Given the description of an element on the screen output the (x, y) to click on. 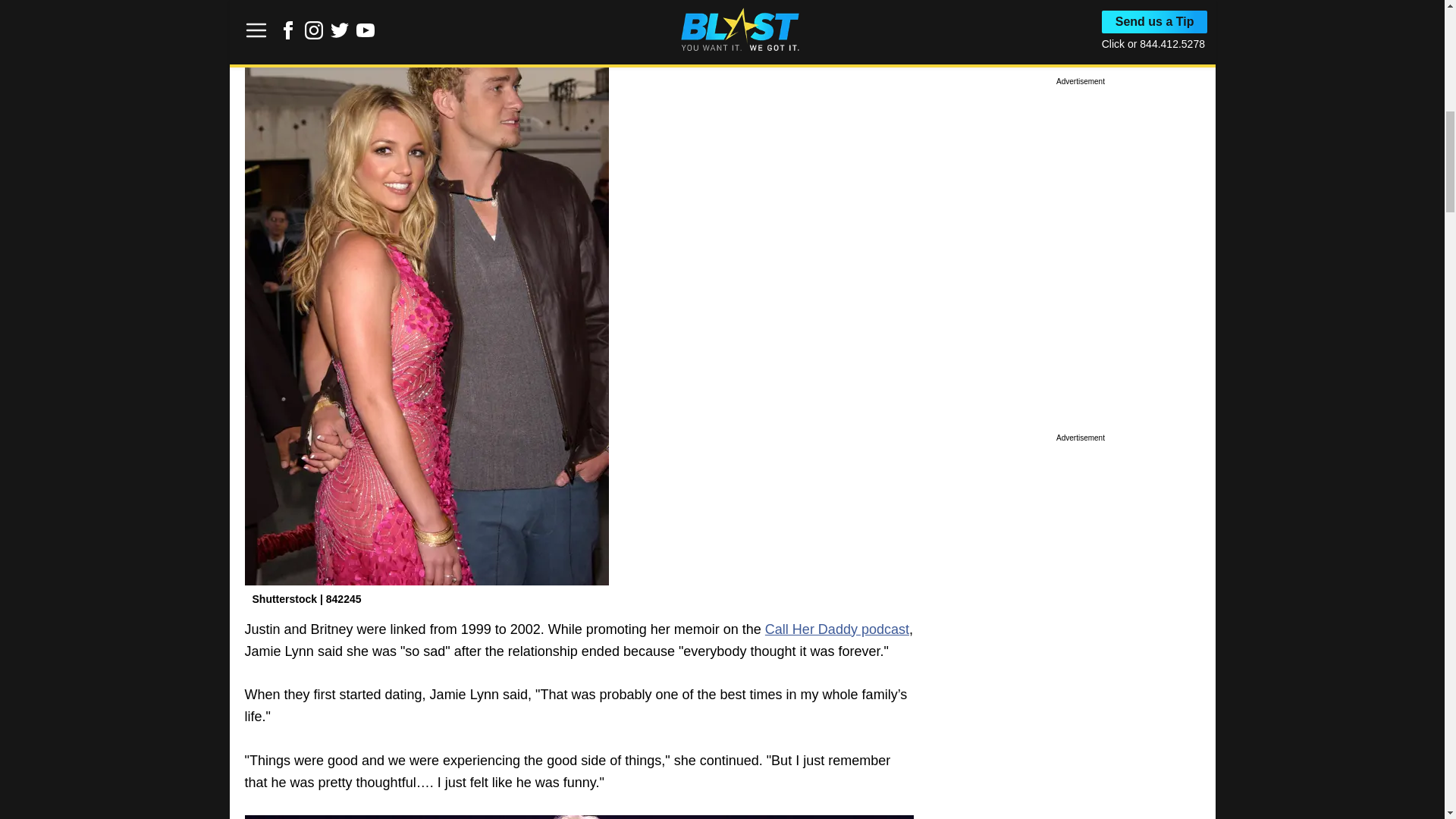
Call Her Daddy podcast (836, 629)
